Given the description of an element on the screen output the (x, y) to click on. 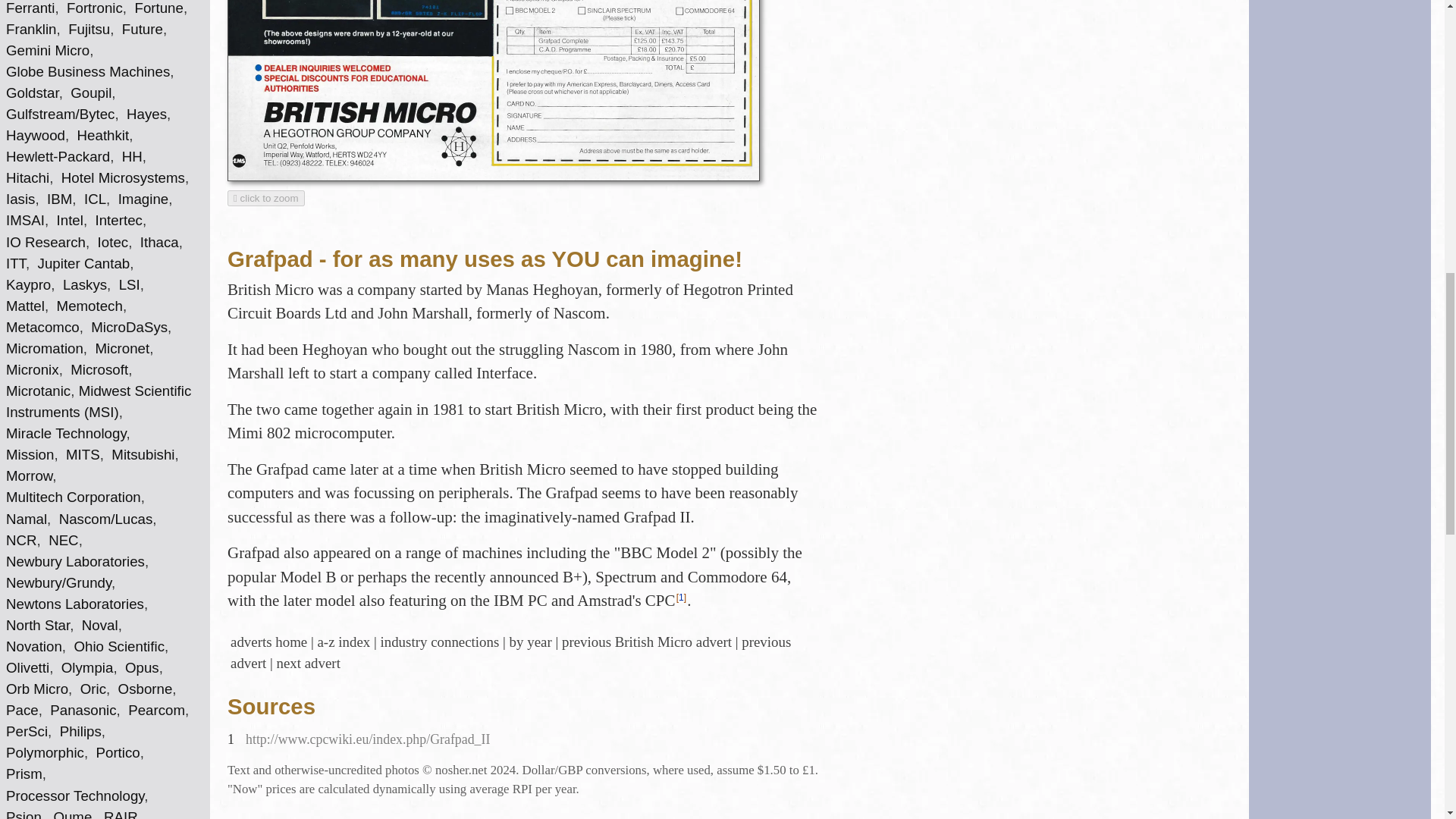
adverts home (268, 641)
a-z index (343, 641)
industry connections (439, 641)
next advert (307, 662)
previous British Micro advert (647, 641)
by year (530, 641)
previous advert (510, 651)
